Given the description of an element on the screen output the (x, y) to click on. 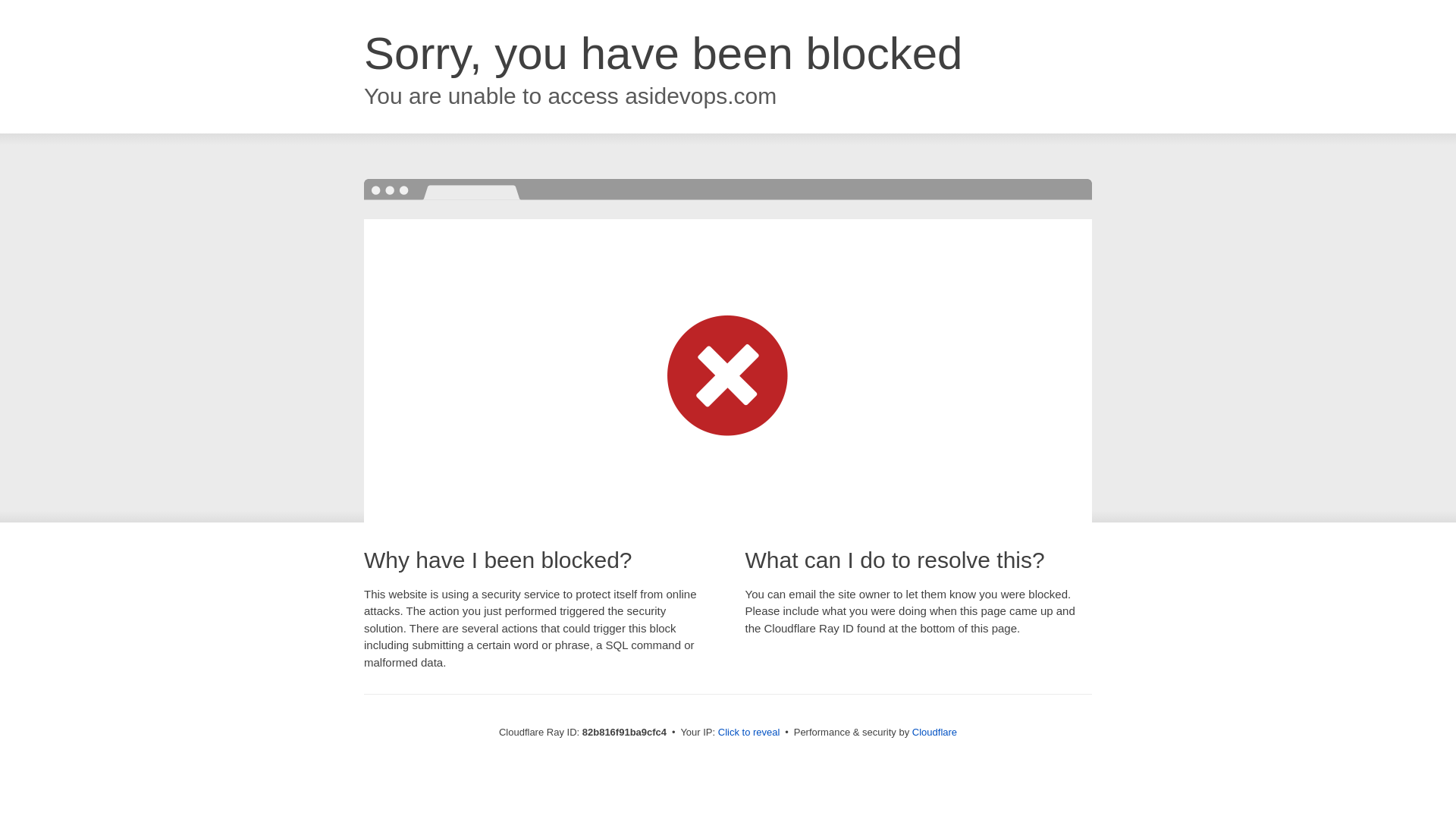
Click to reveal Element type: text (749, 732)
Cloudflare Element type: text (934, 731)
